Given the description of an element on the screen output the (x, y) to click on. 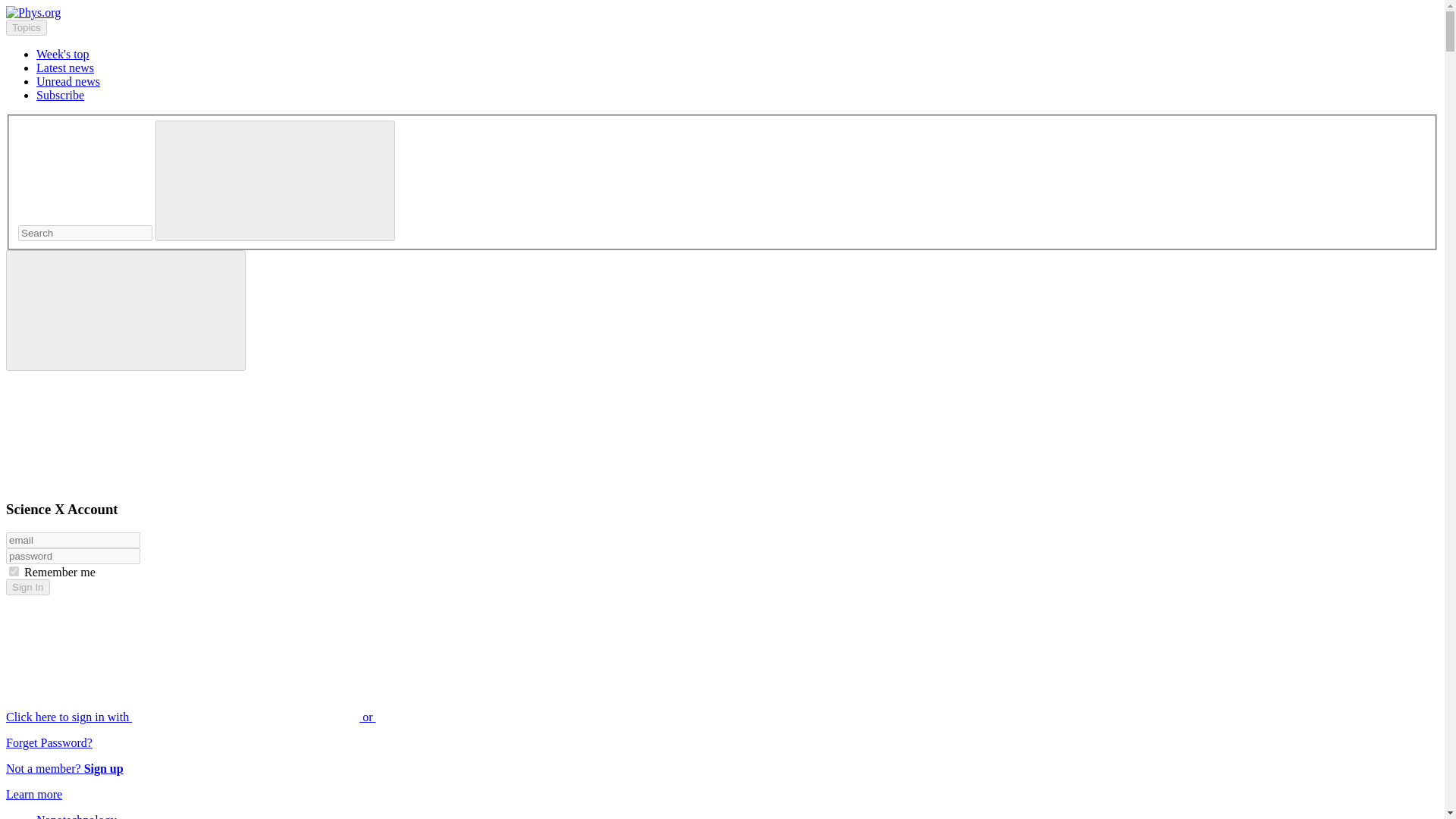
Unread news (68, 81)
Topics (25, 27)
Forget Password? (49, 742)
Week's top (62, 53)
Latest news (65, 67)
Subscribe (60, 94)
Click here to sign in with or (304, 716)
Learn more (33, 793)
Sign In (27, 587)
Not a member? Sign up (64, 768)
Nanotechnology (76, 816)
on (13, 571)
